Given the description of an element on the screen output the (x, y) to click on. 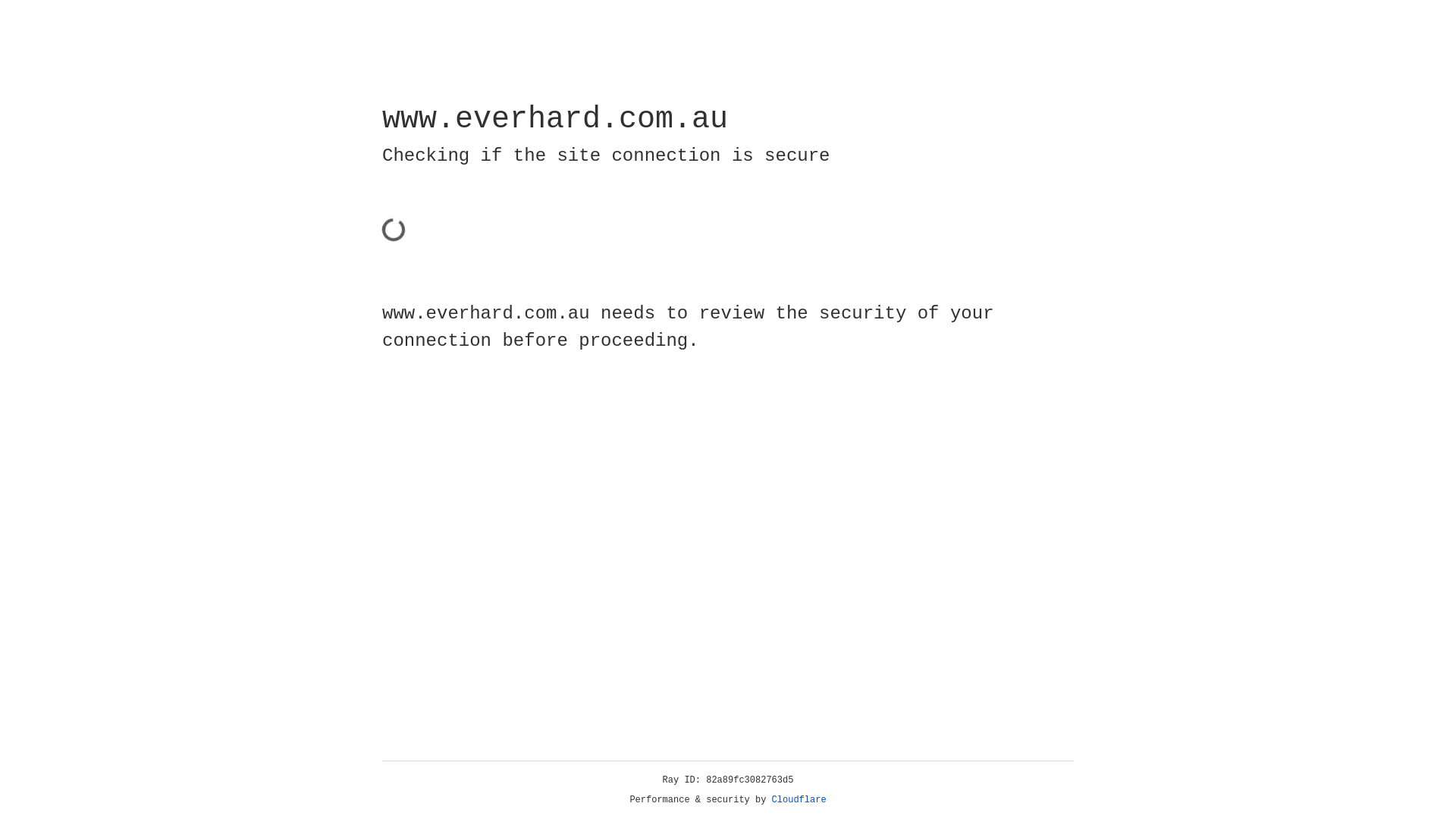
Cloudflare Element type: text (798, 799)
